Given the description of an element on the screen output the (x, y) to click on. 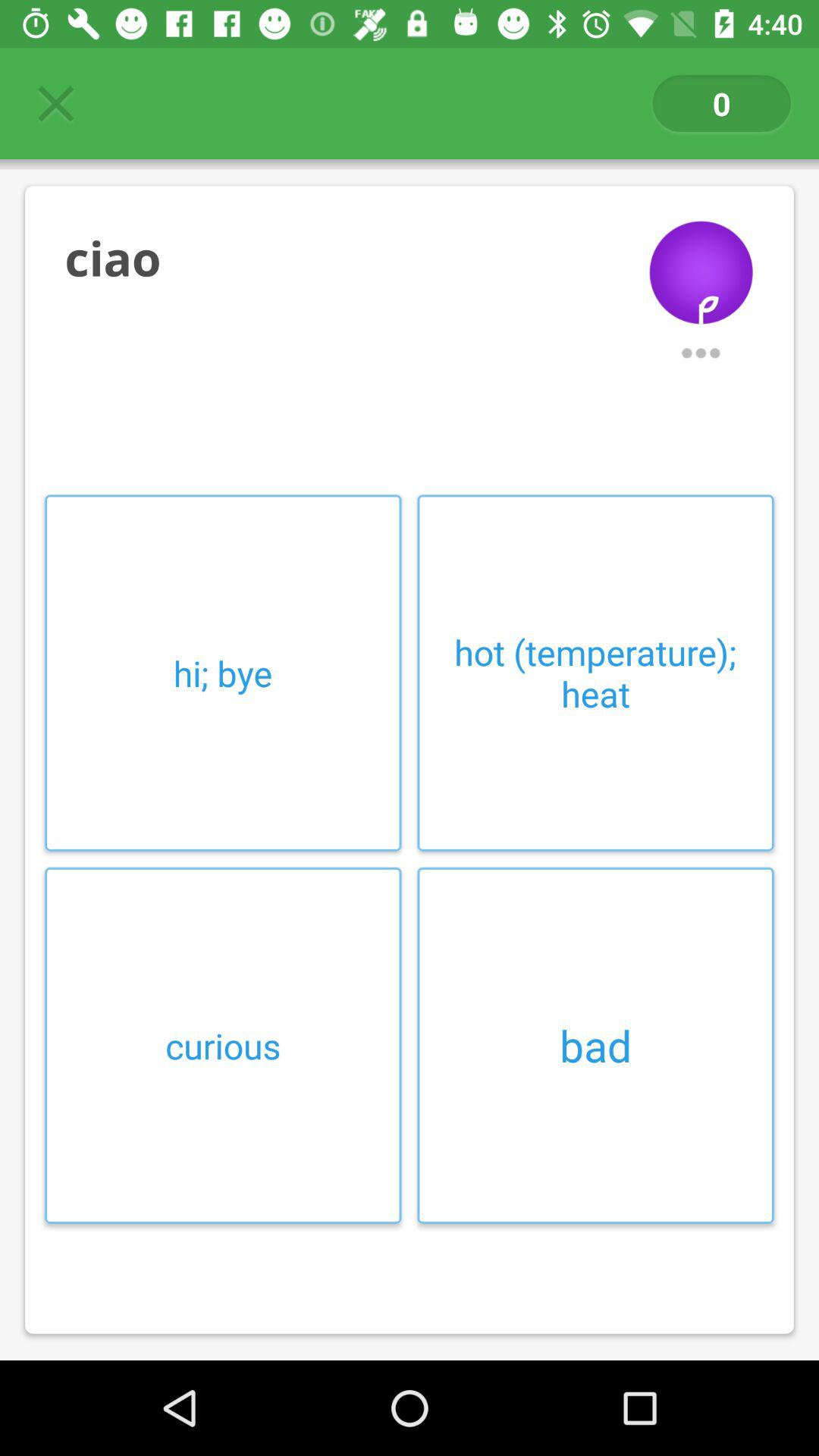
turn off item at the top left corner (55, 103)
